Given the description of an element on the screen output the (x, y) to click on. 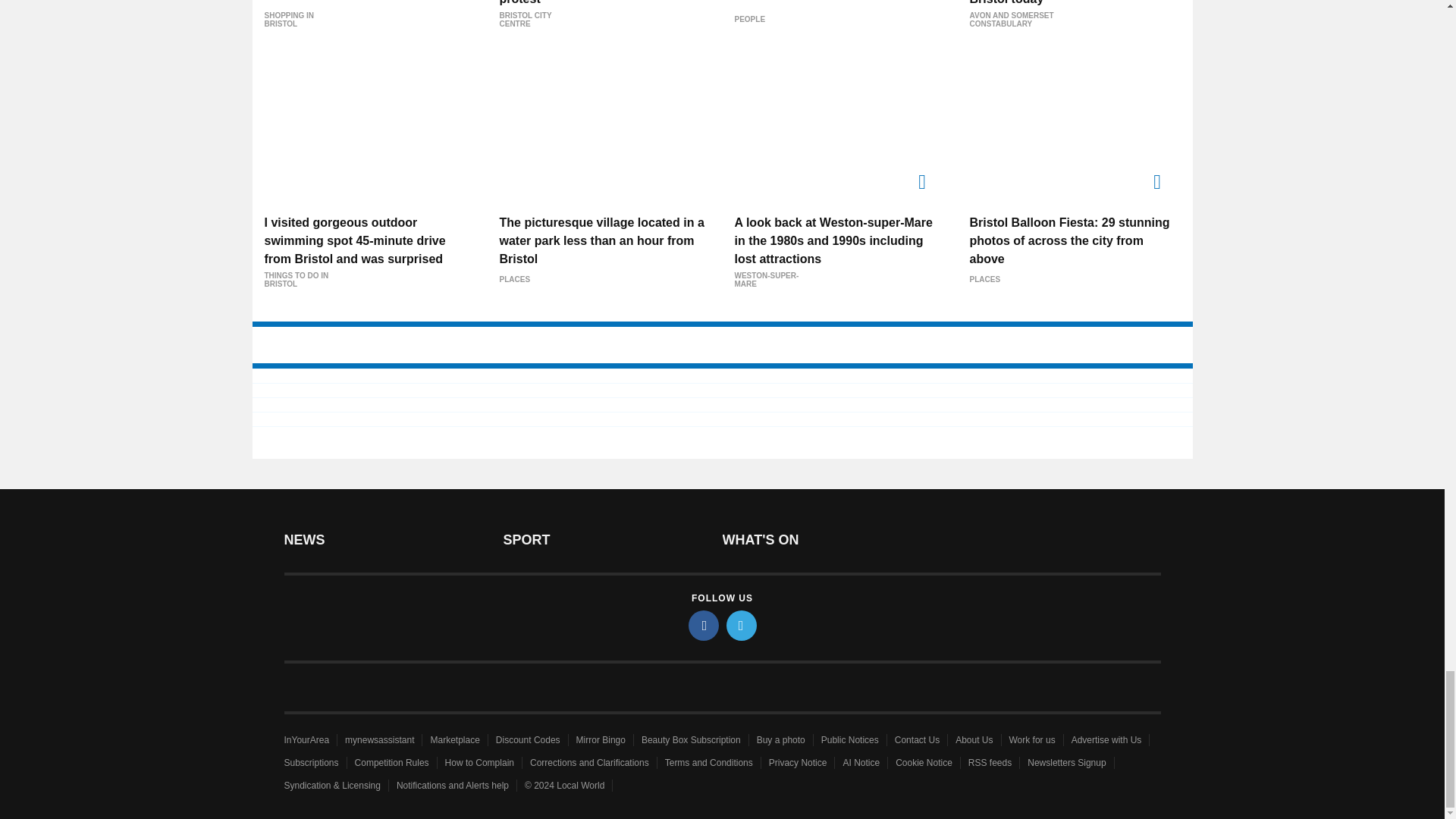
facebook (703, 625)
twitter (741, 625)
